Given the description of an element on the screen output the (x, y) to click on. 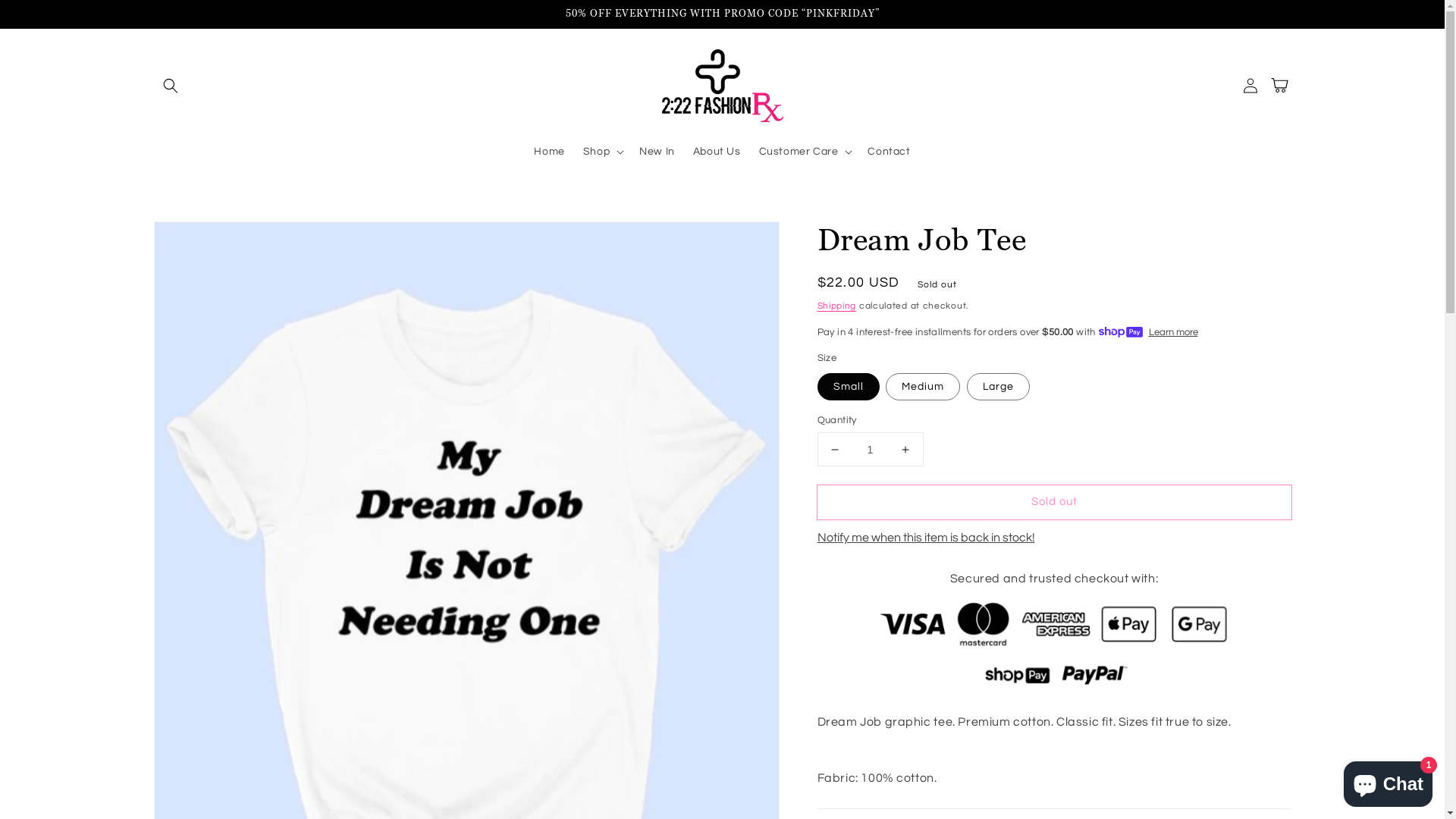
Sold out Element type: text (1054, 502)
New In Element type: text (657, 151)
Decrease quantity for Dream Job Tee Element type: text (834, 449)
Contact Element type: text (888, 151)
About Us Element type: text (716, 151)
Shopify online store chat Element type: hover (1388, 780)
Home Element type: text (548, 151)
Skip to product information Element type: text (198, 237)
Log in Element type: text (1249, 85)
Cart Element type: text (1282, 85)
Increase quantity for Dream Job Tee Element type: text (905, 449)
Shipping Element type: text (836, 305)
